Given the description of an element on the screen output the (x, y) to click on. 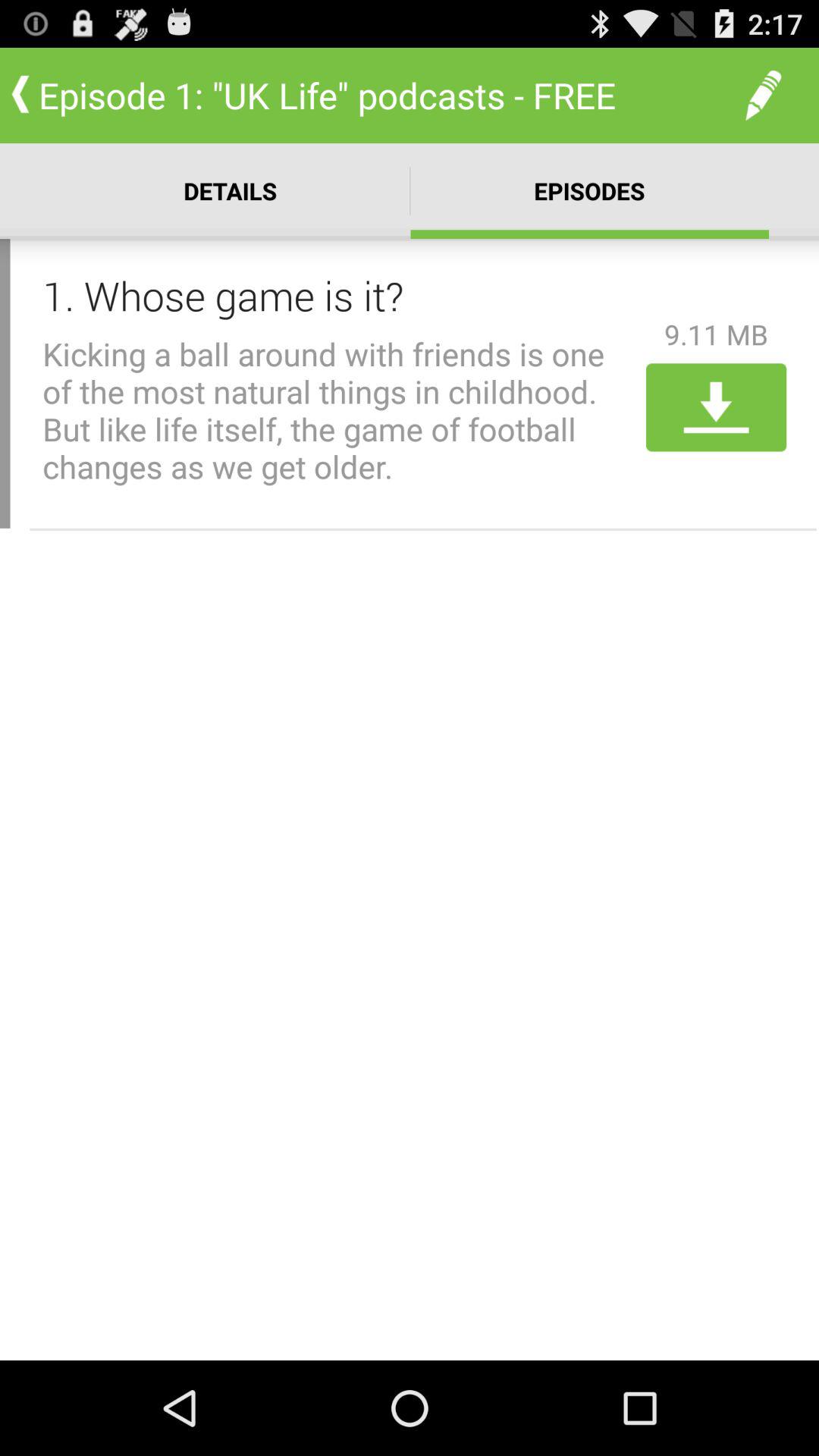
launch icon below 1 whose game icon (338, 409)
